Given the description of an element on the screen output the (x, y) to click on. 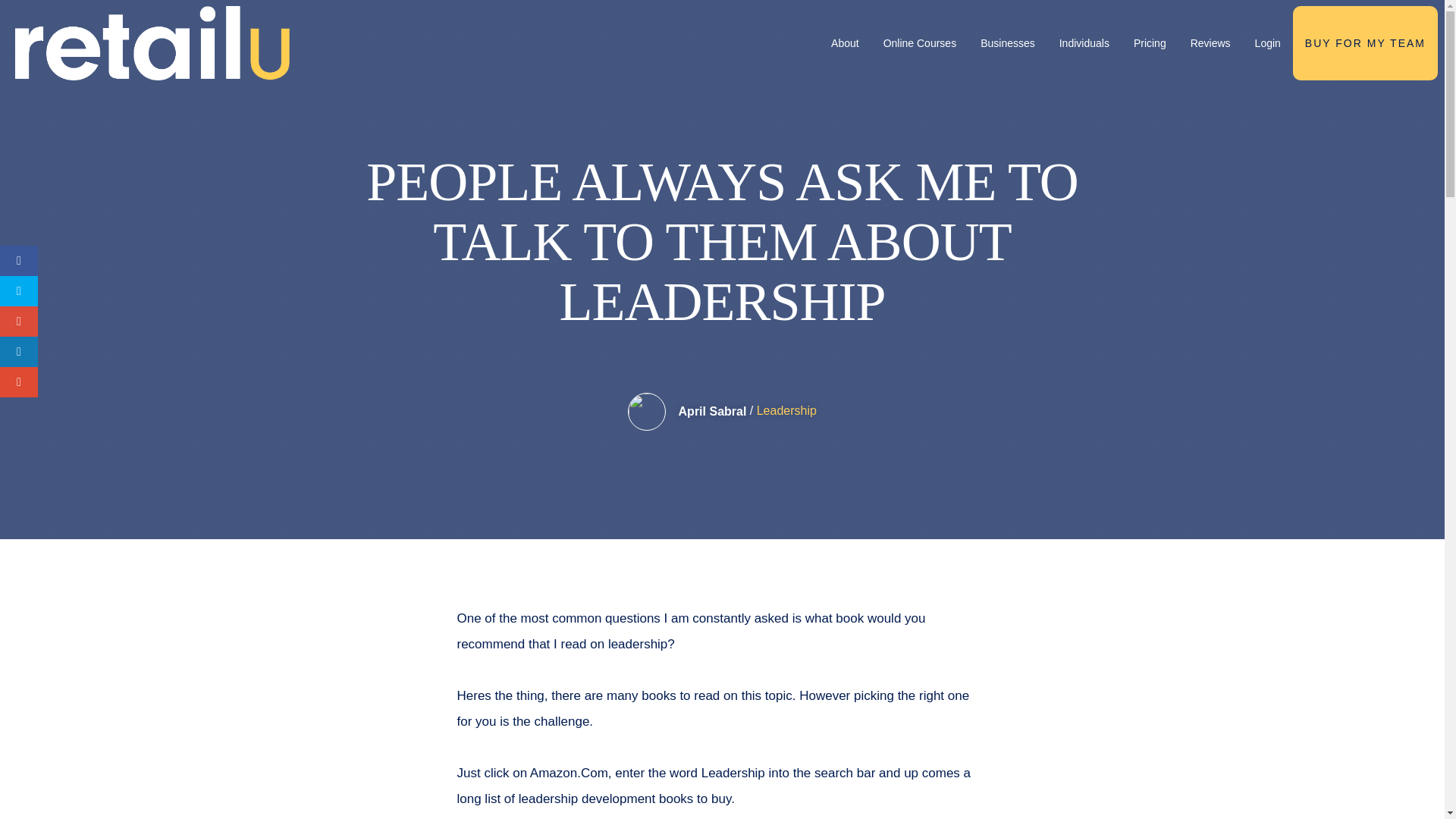
Online Courses (919, 43)
